Given the description of an element on the screen output the (x, y) to click on. 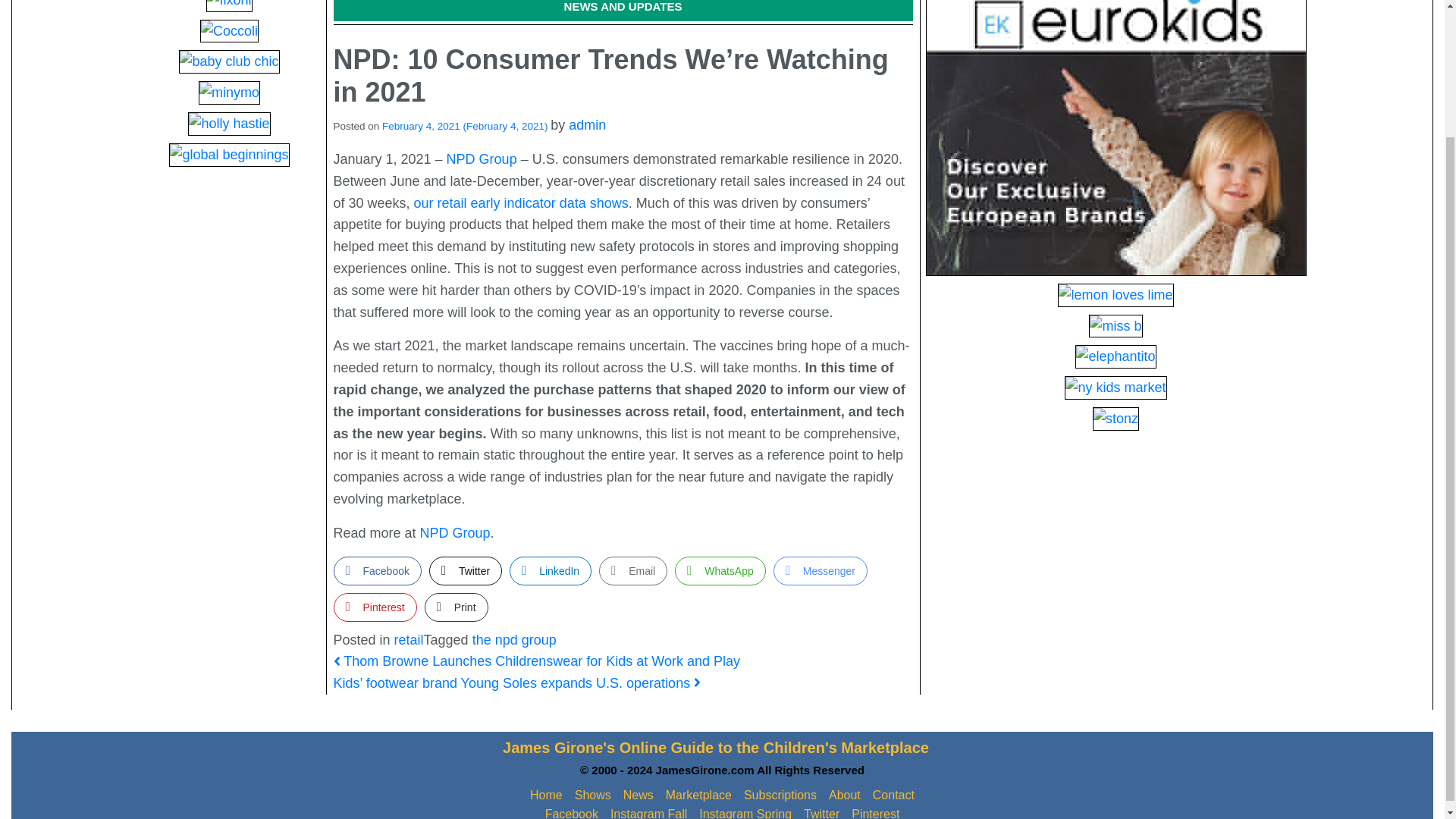
Subscriptions (780, 795)
LinkedIn (550, 570)
admin (587, 124)
WhatsApp (720, 570)
Shows (593, 795)
Home (546, 795)
Facebook (377, 570)
our retail early indicator data shows (520, 202)
About (844, 795)
NPD Group (455, 532)
